Given the description of an element on the screen output the (x, y) to click on. 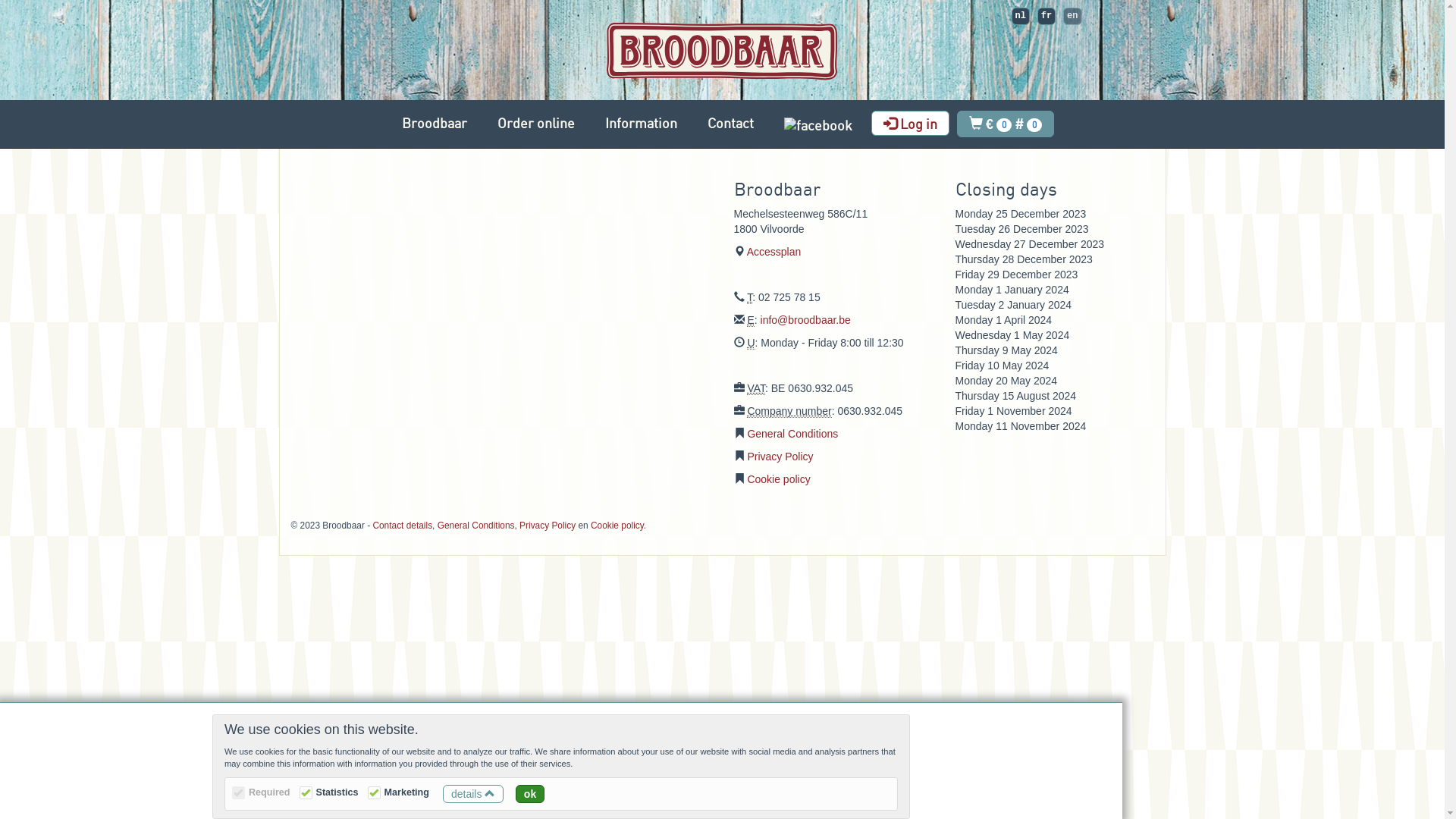
info@broodbaar.be Element type: text (805, 319)
Accessplan Element type: text (773, 251)
fr Element type: text (1046, 16)
Cookie policy Element type: text (616, 525)
ok Element type: text (529, 793)
Contact Element type: text (730, 122)
Privacy Policy Element type: text (547, 525)
en Element type: text (1072, 16)
Information Element type: text (640, 122)
Privacy Policy Element type: text (779, 456)
Broodbaar Element type: text (434, 122)
Cookie policy Element type: text (777, 479)
General Conditions Element type: text (475, 525)
Contact details Element type: text (402, 525)
details Element type: text (472, 793)
 Log in Element type: text (910, 122)
nl Element type: text (1020, 16)
General Conditions Element type: text (791, 433)
Order online Element type: text (536, 122)
